Given the description of an element on the screen output the (x, y) to click on. 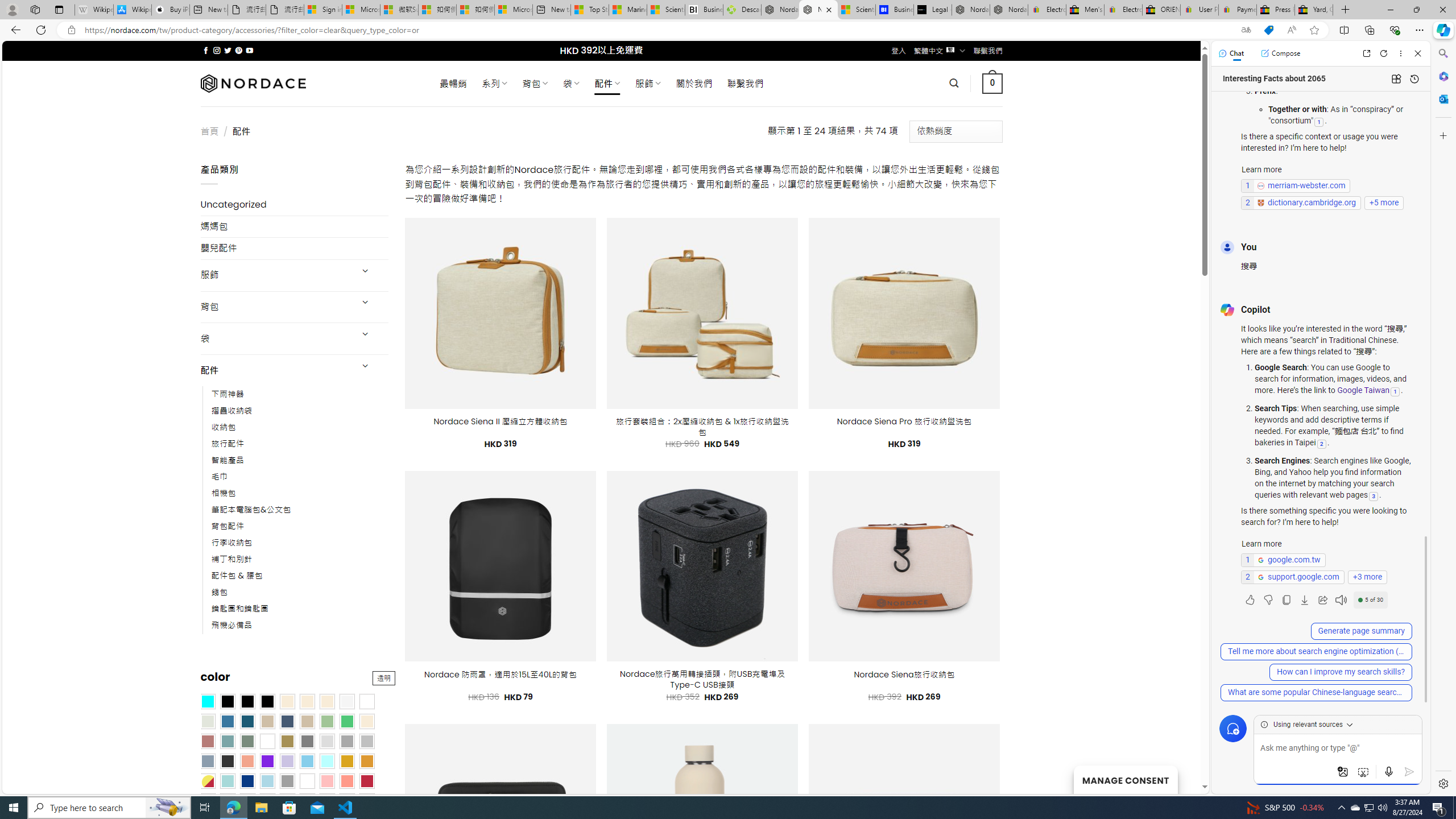
Show translate options (1245, 29)
